Given the description of an element on the screen output the (x, y) to click on. 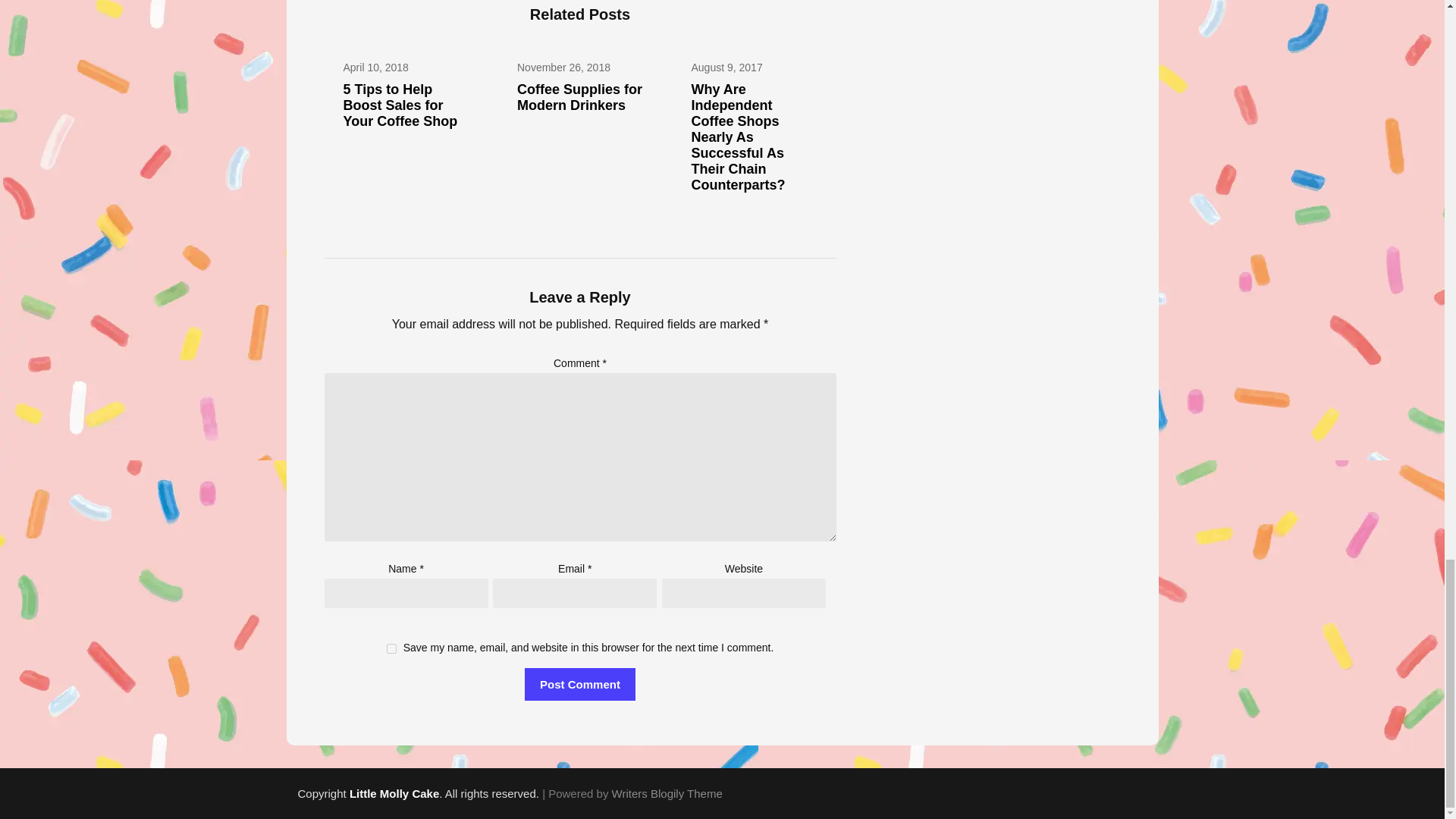
yes (391, 648)
Coffee Supplies for Modern Drinkers (579, 97)
Writers Blogily Theme (666, 793)
Little Molly Cake (394, 793)
5 Tips to Help Boost Sales for Your Coffee Shop (399, 104)
Post Comment (579, 684)
Post Comment (579, 684)
